Given the description of an element on the screen output the (x, y) to click on. 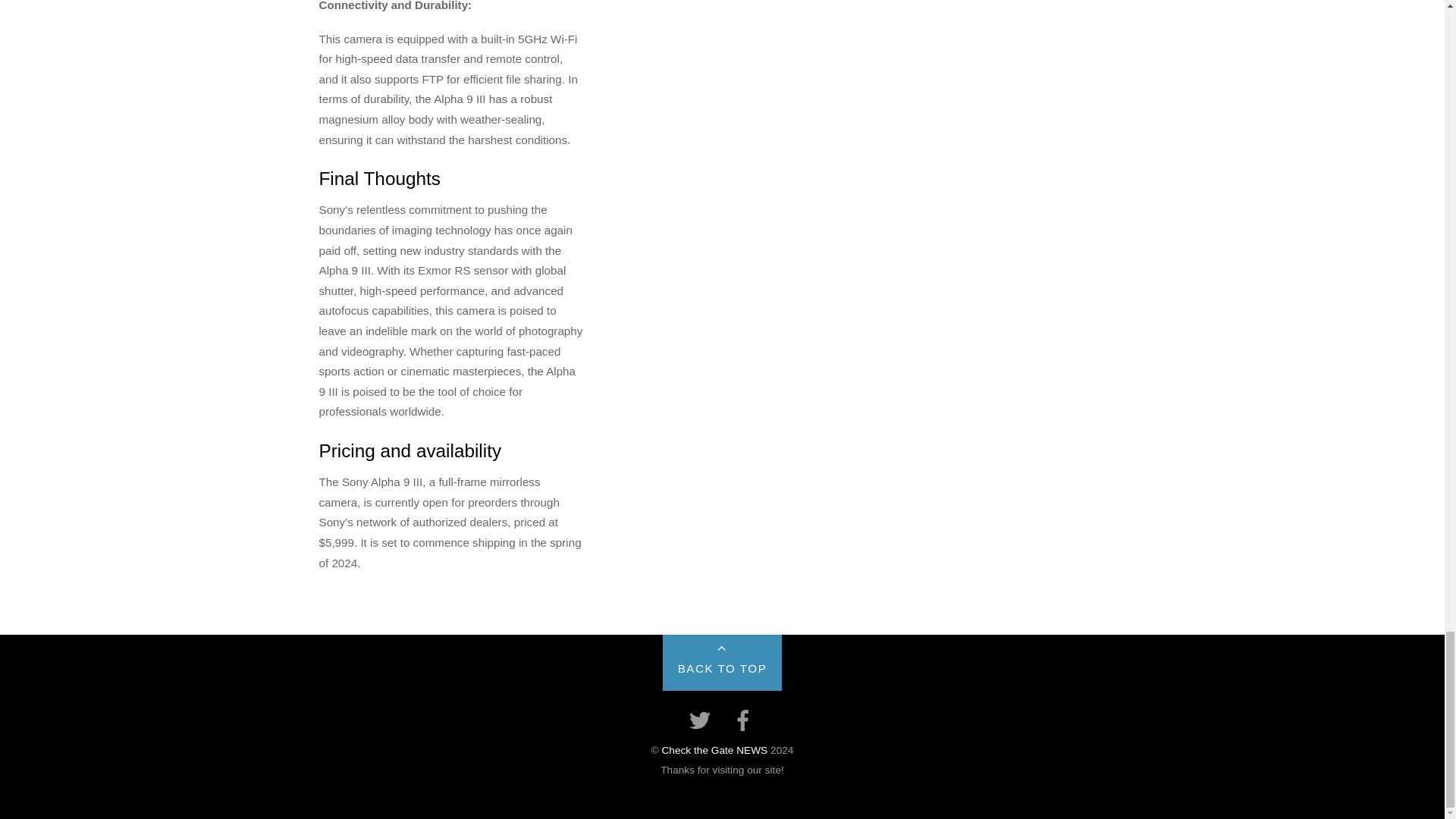
BACK TO TOP (722, 662)
